Given the description of an element on the screen output the (x, y) to click on. 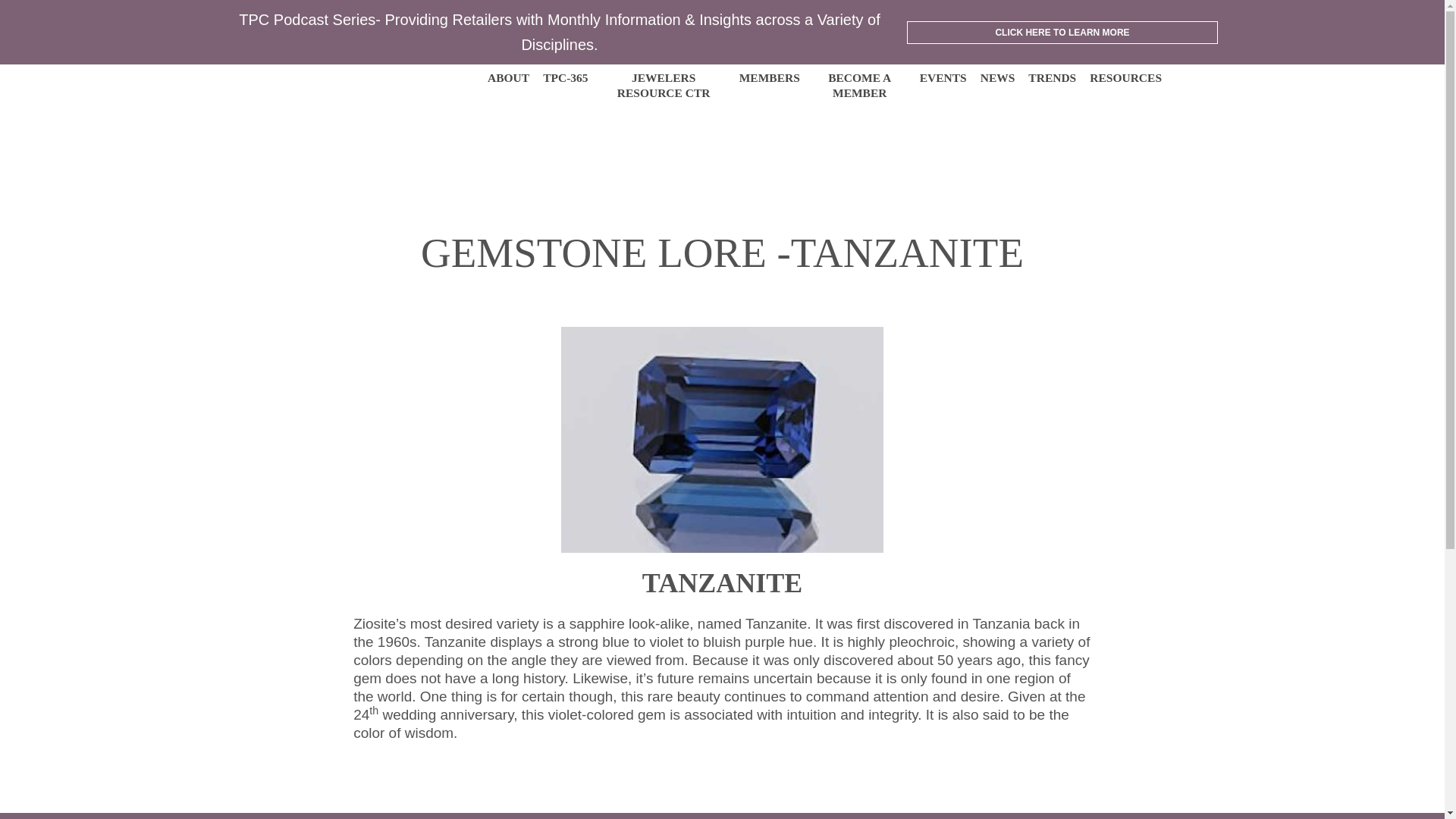
ABOUT (508, 77)
EVENTS (943, 77)
TPC-365 (565, 77)
MEMBERS (769, 77)
NEWS (996, 77)
BECOME A MEMBER (859, 85)
CLICK HERE TO LEARN MORE (1062, 32)
TRENDS (1051, 77)
GEMSTONE LORE -TANZANITE (721, 253)
RESOURCES (1125, 77)
